Given the description of an element on the screen output the (x, y) to click on. 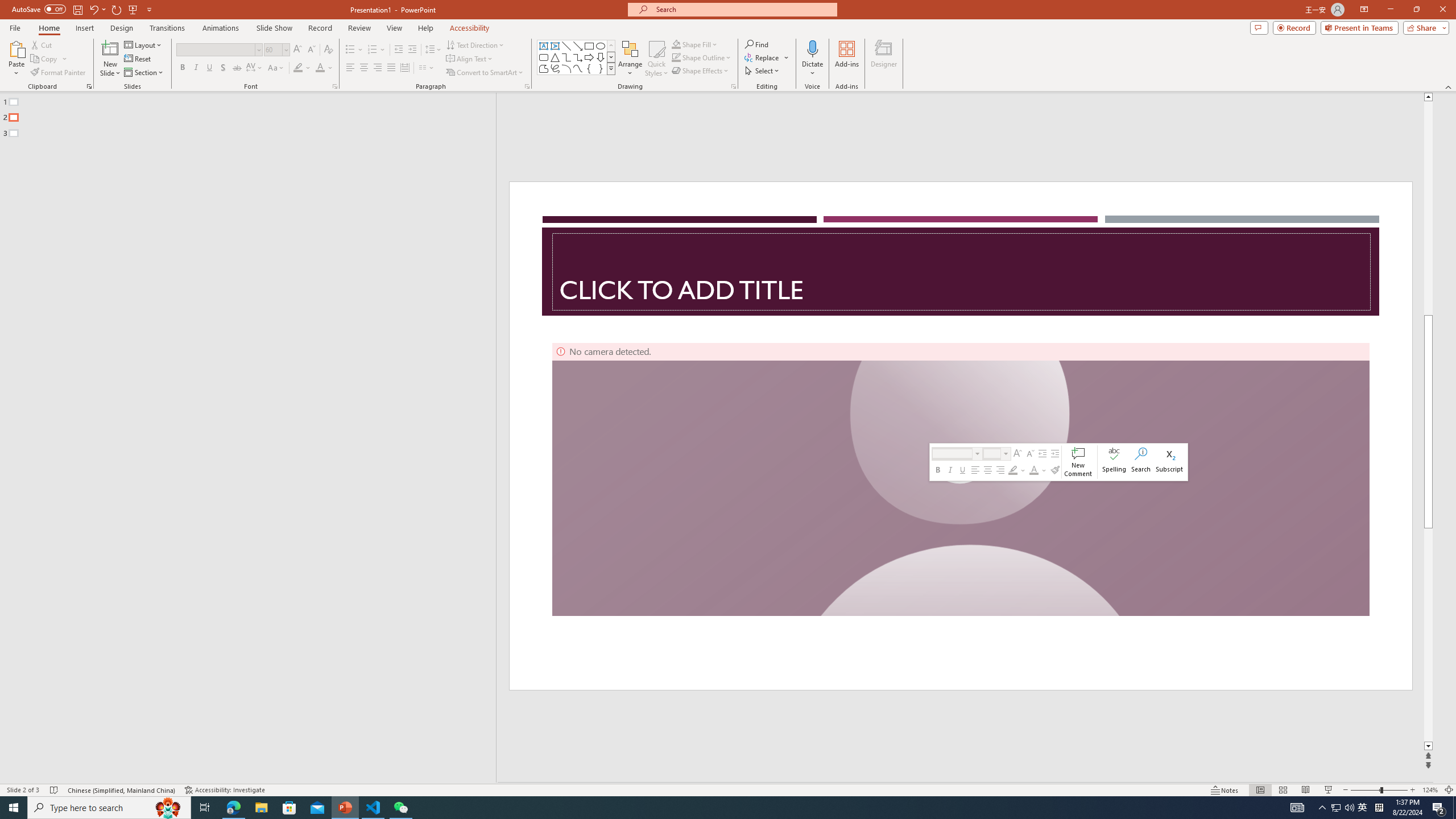
Camera 3, No camera detected. (960, 478)
